Given the description of an element on the screen output the (x, y) to click on. 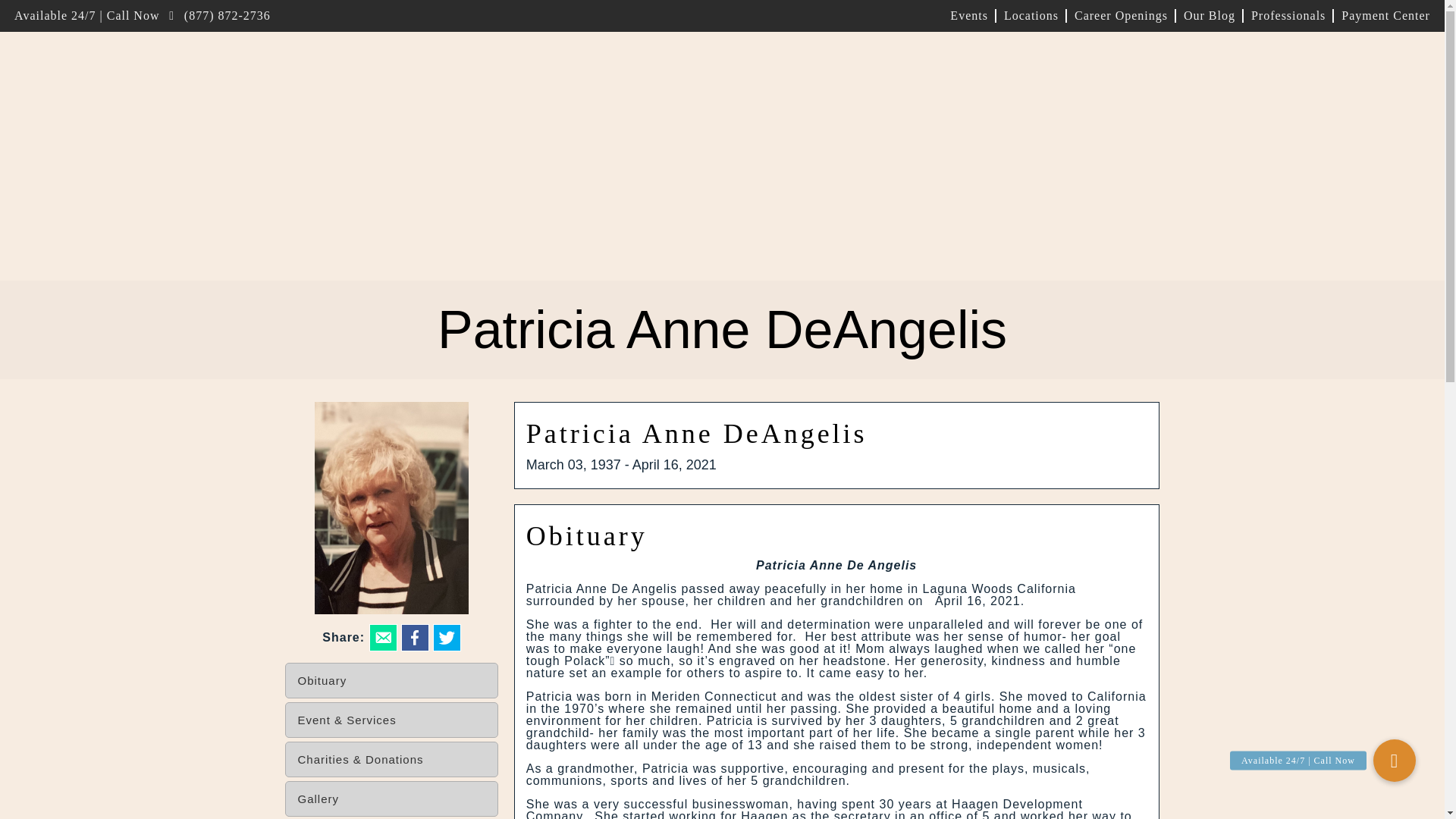
Our Blog (1208, 15)
Locations (1030, 15)
Payment Center (1381, 15)
Professionals (1288, 15)
Career Openings (1119, 15)
Events (968, 15)
